Given the description of an element on the screen output the (x, y) to click on. 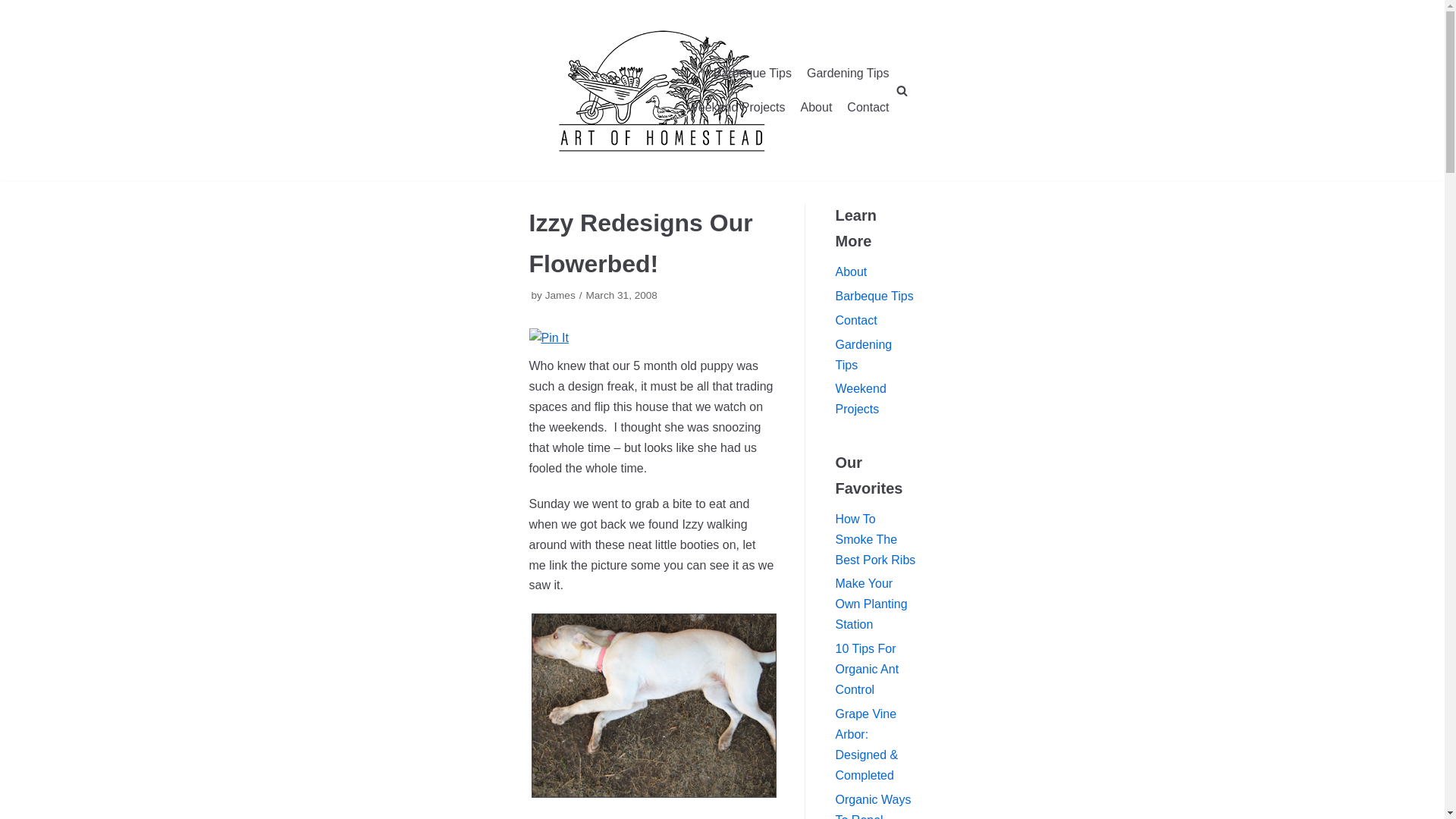
Weekend Projects (860, 398)
Double Danger (661, 90)
10 Tips For Organic Ant Control (867, 669)
Search (897, 409)
Gardening Tips (847, 73)
Make Your Own Planting Station (871, 603)
Contact (856, 319)
Barbeque Tips (874, 295)
About (851, 271)
About (816, 107)
